Given the description of an element on the screen output the (x, y) to click on. 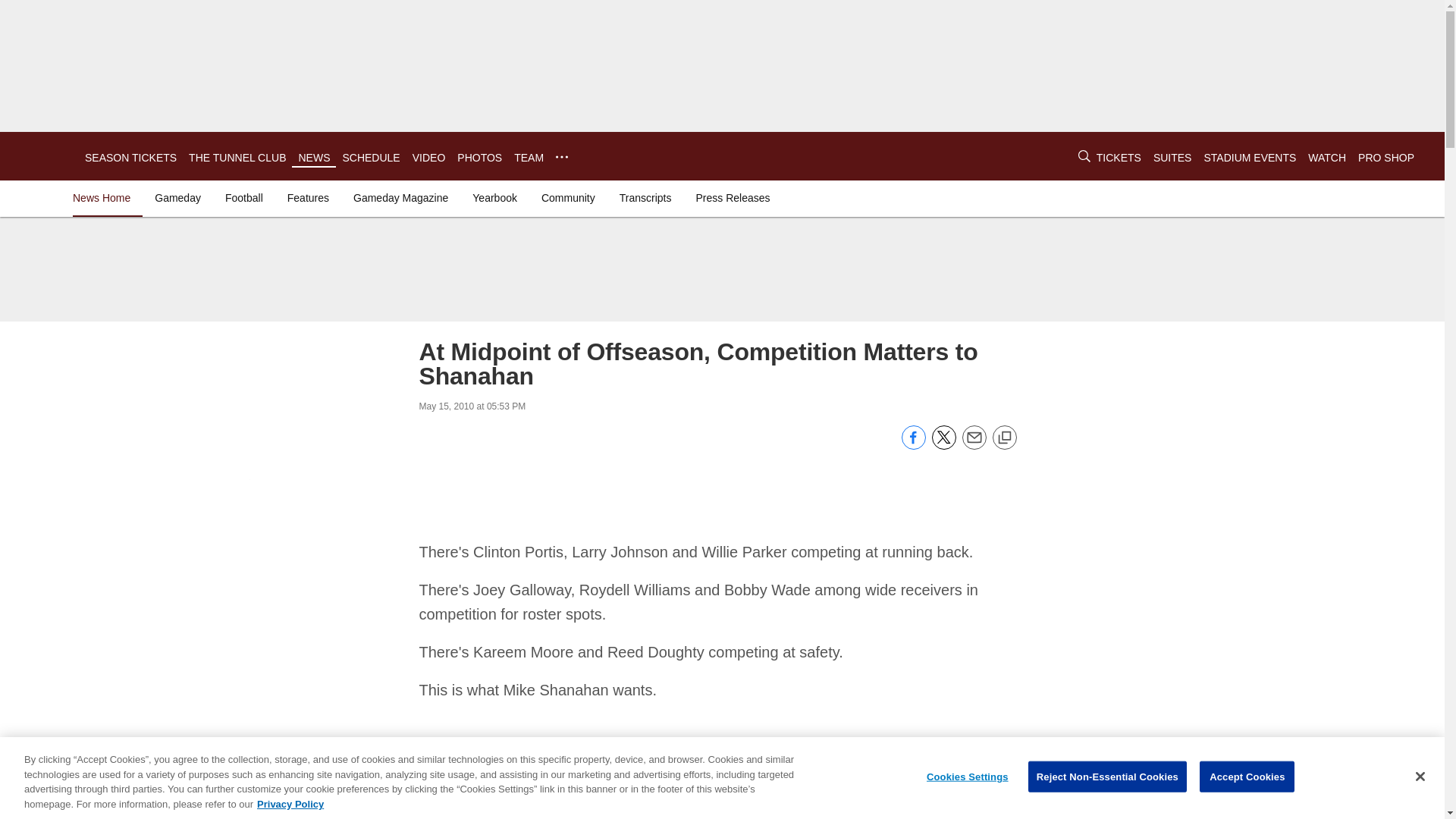
TEAM (528, 157)
Gameday (177, 197)
Press Releases (732, 197)
NEWS (314, 157)
Features (307, 197)
PHOTOS (479, 157)
Transcripts (645, 197)
VIDEO (428, 157)
PRO SHOP (1385, 157)
TICKETS (1118, 157)
